Given the description of an element on the screen output the (x, y) to click on. 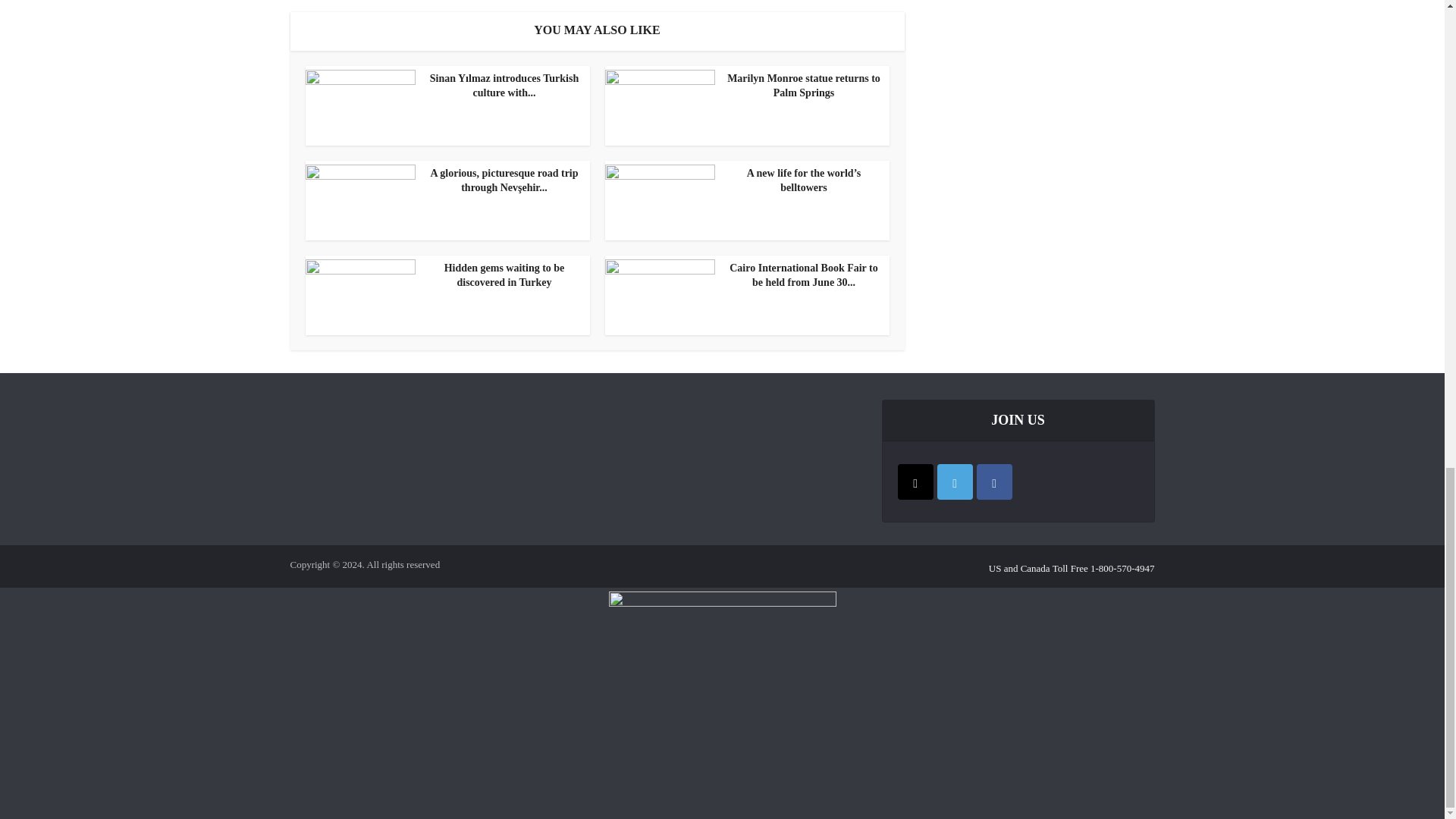
Hidden gems waiting to be discovered in Turkey (442, 275)
Marilyn Monroe statue returns to Palm Springs (743, 86)
Marilyn Monroe statue returns to Palm Springs (743, 86)
